Given the description of an element on the screen output the (x, y) to click on. 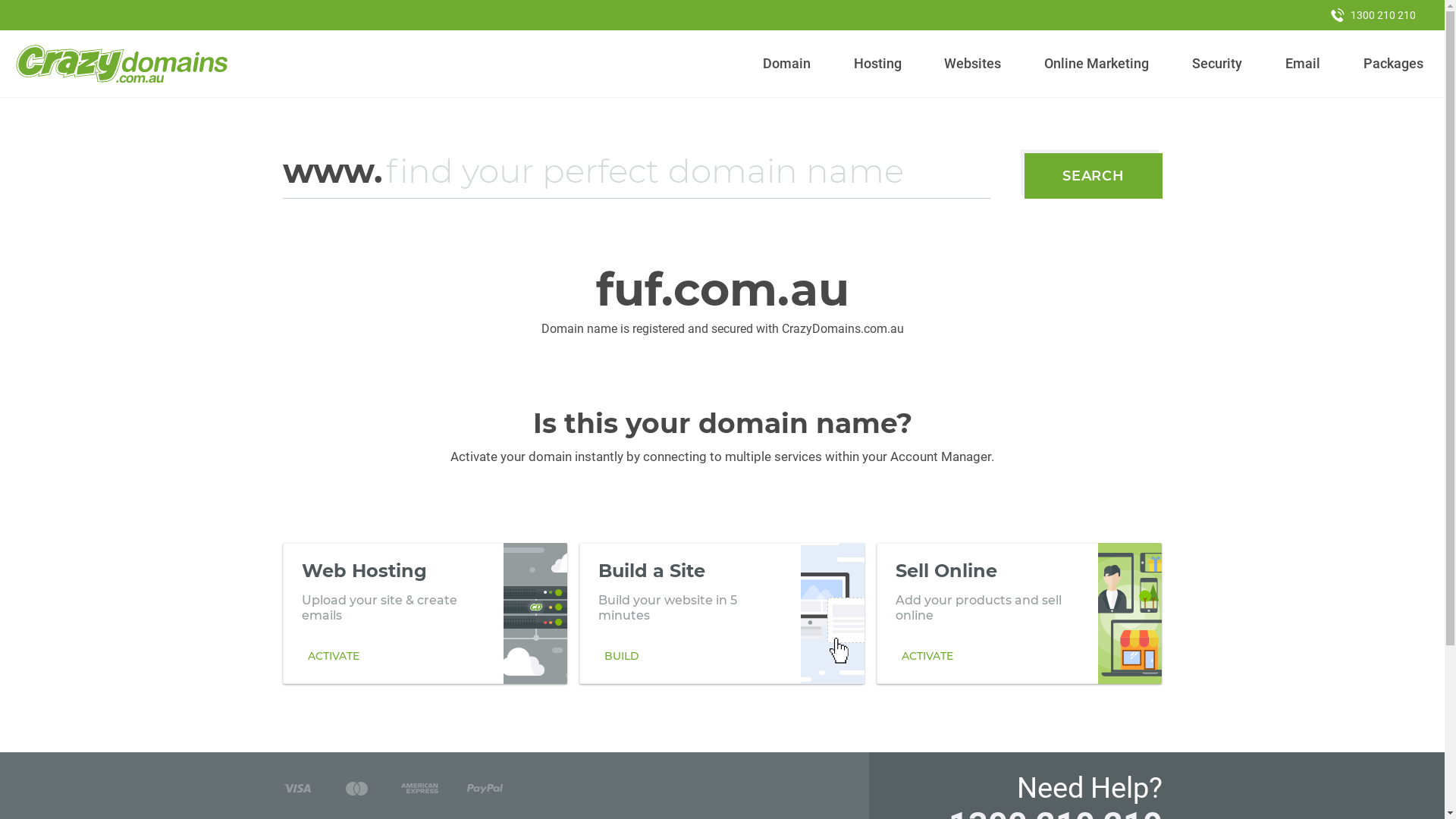
Domain Element type: text (786, 63)
Email Element type: text (1302, 63)
Build a Site
Build your website in 5 minutes
BUILD Element type: text (721, 613)
Security Element type: text (1217, 63)
Packages Element type: text (1392, 63)
Web Hosting
Upload your site & create emails
ACTIVATE Element type: text (424, 613)
Websites Element type: text (972, 63)
Sell Online
Add your products and sell online
ACTIVATE Element type: text (1018, 613)
1300 210 210 Element type: text (1373, 15)
SEARCH Element type: text (1092, 175)
Hosting Element type: text (877, 63)
Online Marketing Element type: text (1096, 63)
